Given the description of an element on the screen output the (x, y) to click on. 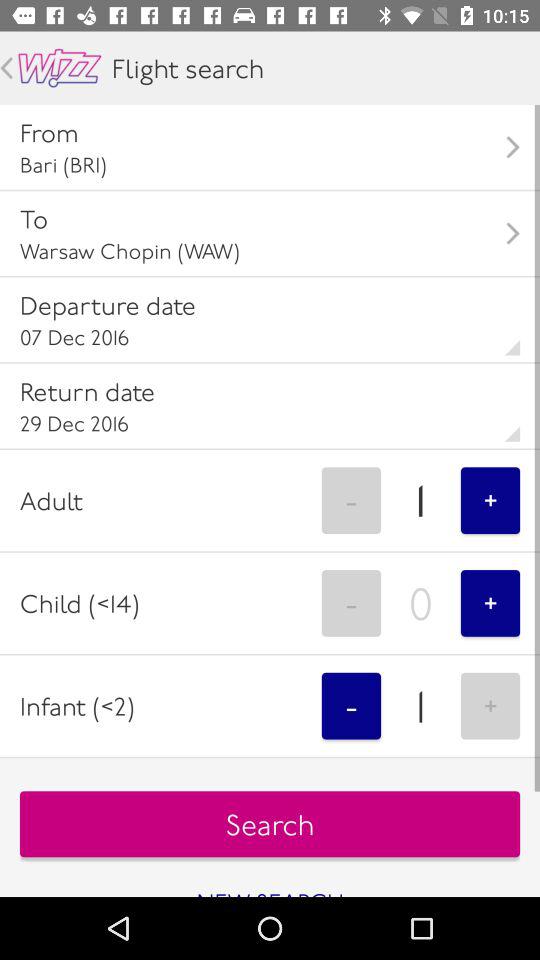
open the icon next to the 1 (490, 500)
